Given the description of an element on the screen output the (x, y) to click on. 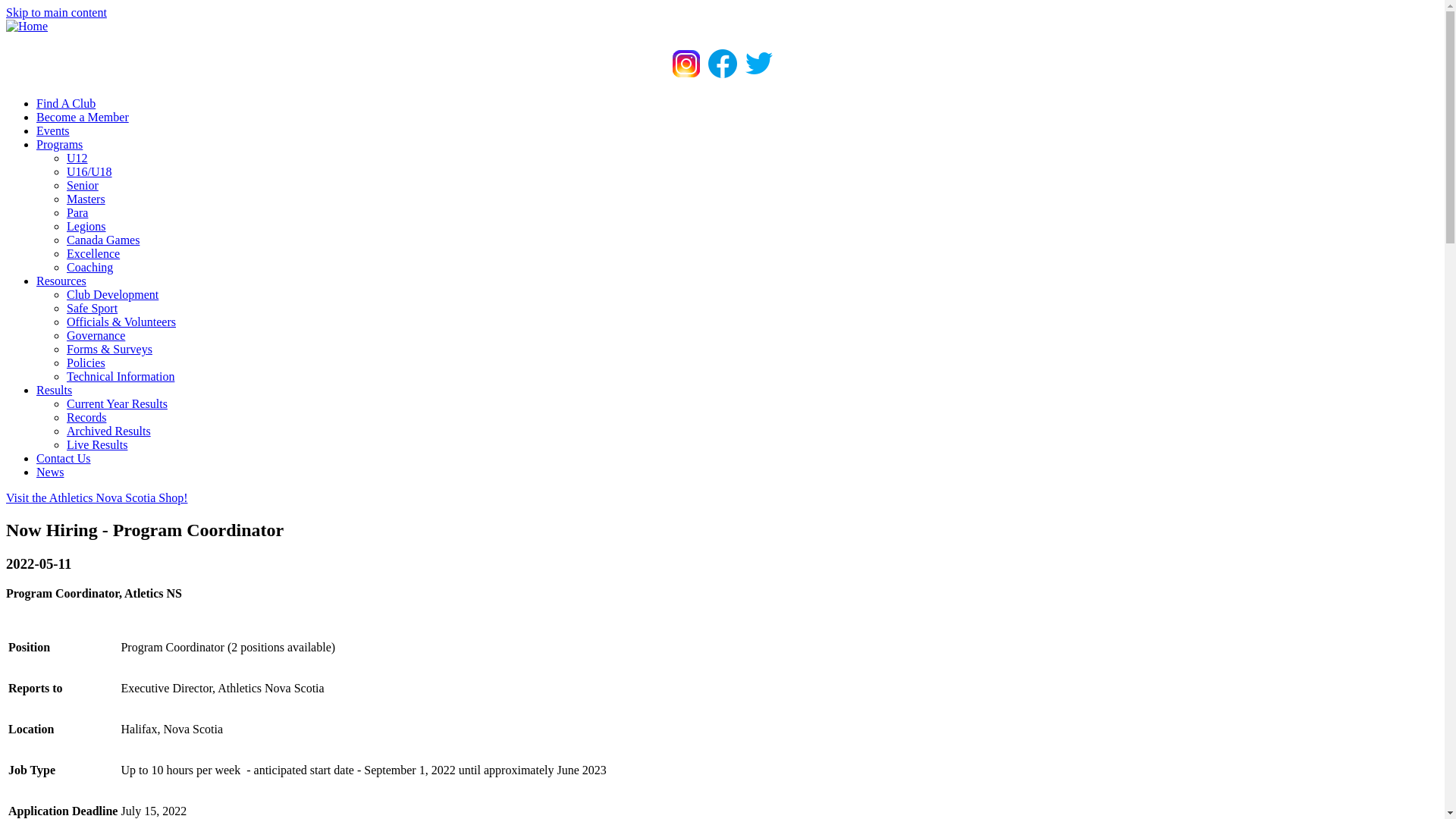
Become a Member Element type: text (82, 116)
Visit the Athletics Nova Scotia Shop! Element type: text (96, 497)
Officials & Volunteers Element type: text (120, 321)
Contact Us Element type: text (63, 457)
Club Development Element type: text (112, 294)
Canada Games Element type: text (102, 239)
Archived Results Element type: text (108, 430)
Forms & Surveys Element type: text (109, 348)
U16/U18 Element type: text (89, 171)
Excellence Element type: text (92, 253)
Records Element type: text (86, 417)
Find A Club Element type: text (65, 103)
Technical Information Element type: text (120, 376)
Coaching Element type: text (89, 266)
Policies Element type: text (85, 362)
U12 Element type: text (76, 157)
Resources Element type: text (61, 280)
Governance Element type: text (95, 335)
News Element type: text (49, 471)
Current Year Results Element type: text (116, 403)
Events Element type: text (52, 130)
Skip to main content Element type: text (56, 12)
Safe Sport Element type: text (91, 307)
Legions Element type: text (86, 225)
Results Element type: text (54, 389)
Programs Element type: text (59, 144)
Live Results Element type: text (96, 444)
Home Element type: hover (26, 25)
Masters Element type: text (85, 198)
Senior Element type: text (82, 184)
Para Element type: text (76, 212)
